Given the description of an element on the screen output the (x, y) to click on. 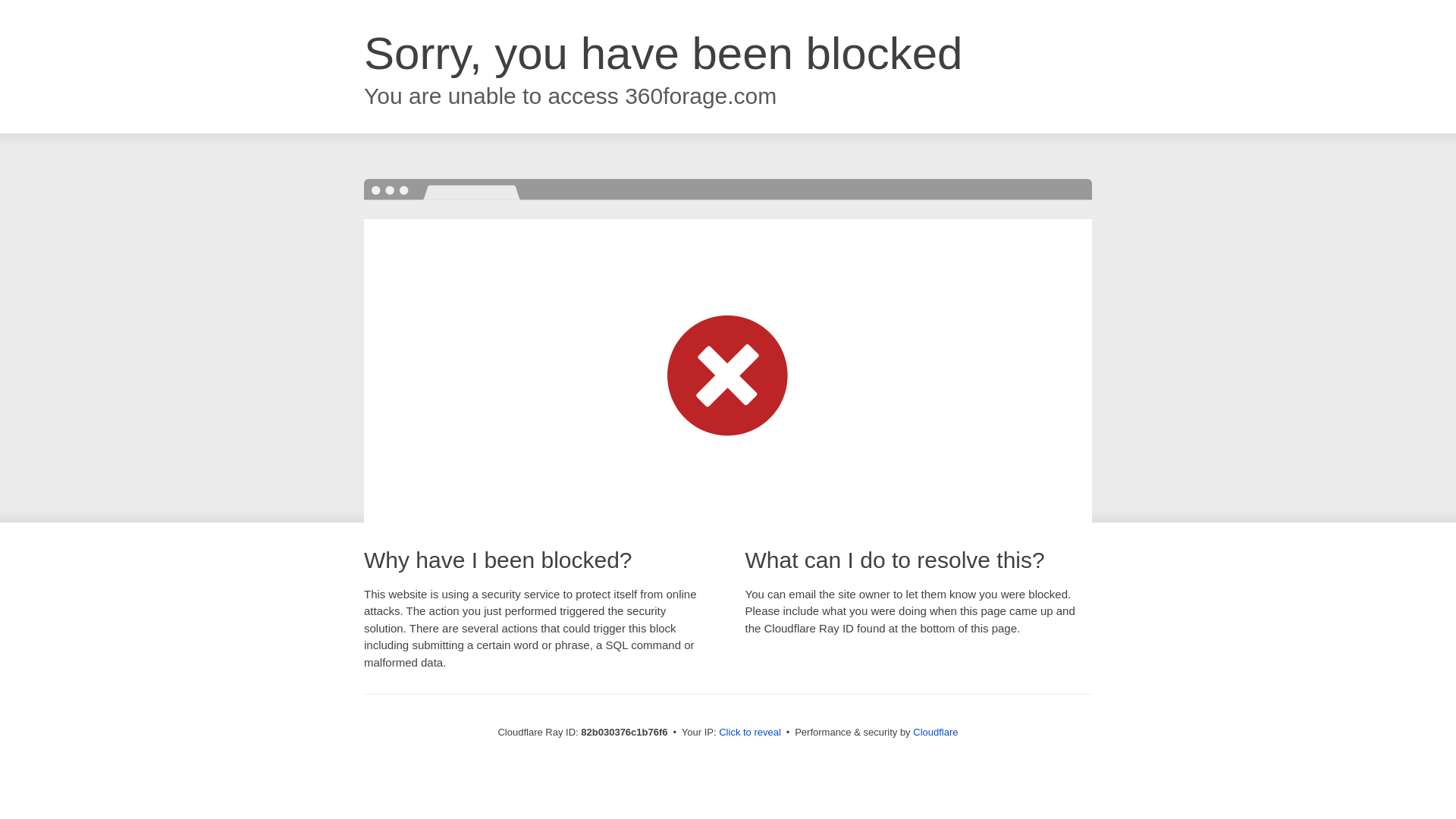
Click to reveal Element type: text (749, 732)
Cloudflare Element type: text (935, 731)
